Given the description of an element on the screen output the (x, y) to click on. 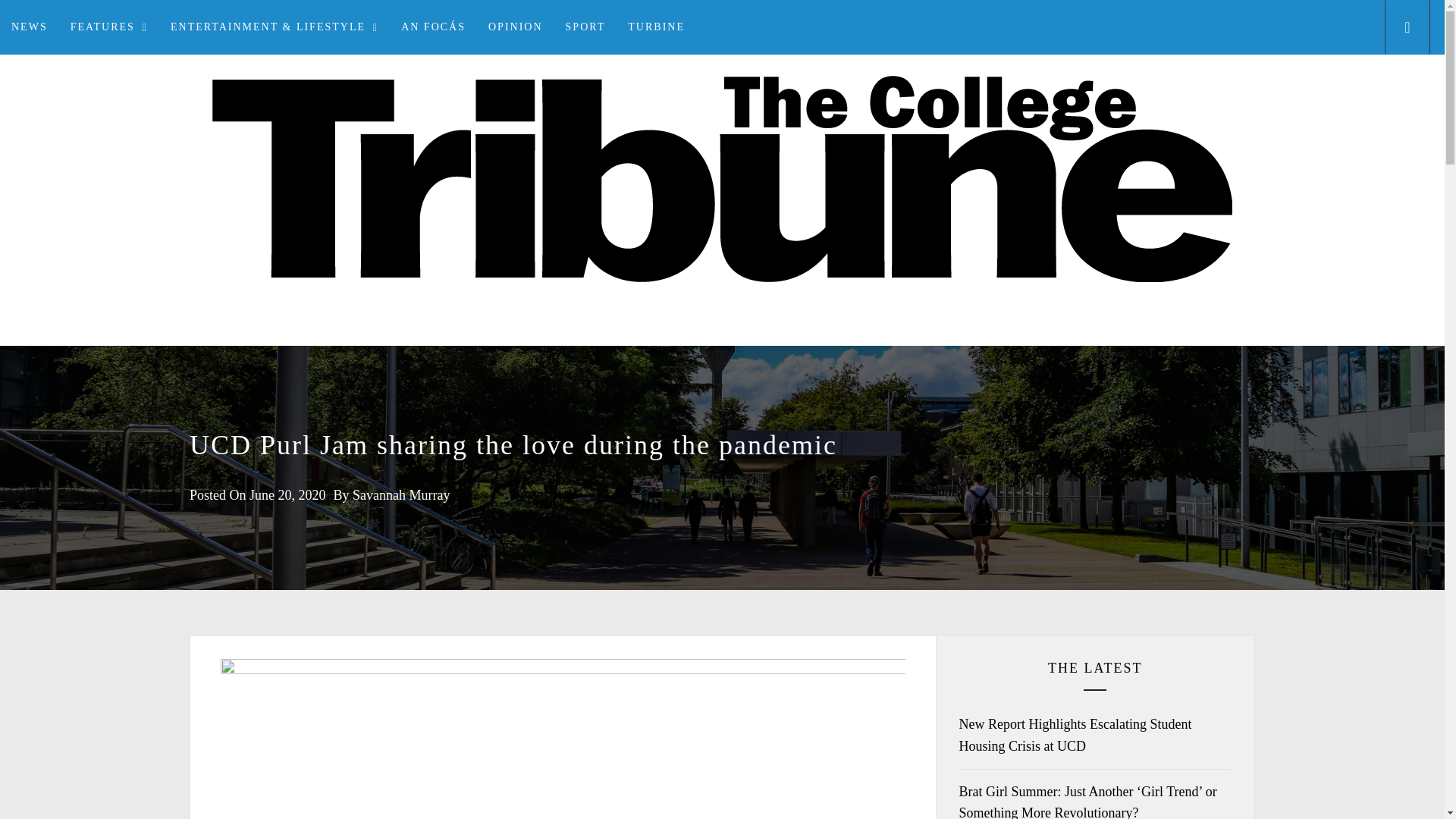
June 20, 2020 (287, 494)
SPORT (585, 27)
COLLEGE TRIBUNE (721, 344)
NEWS (29, 27)
Search (797, 407)
Savannah Murray (400, 494)
FEATURES (108, 27)
OPINION (515, 27)
TURBINE (655, 27)
